Given the description of an element on the screen output the (x, y) to click on. 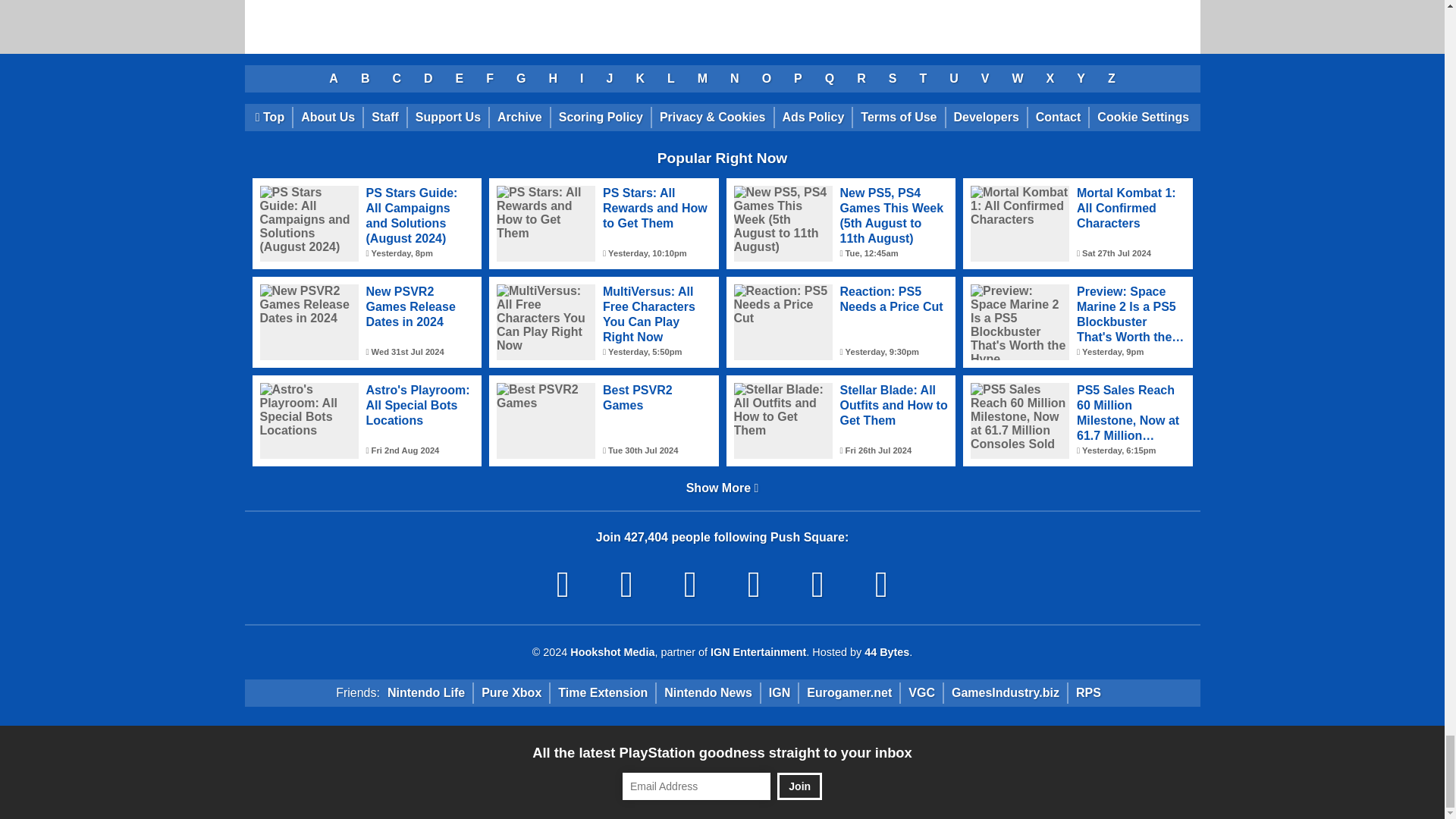
Join (799, 786)
